Given the description of an element on the screen output the (x, y) to click on. 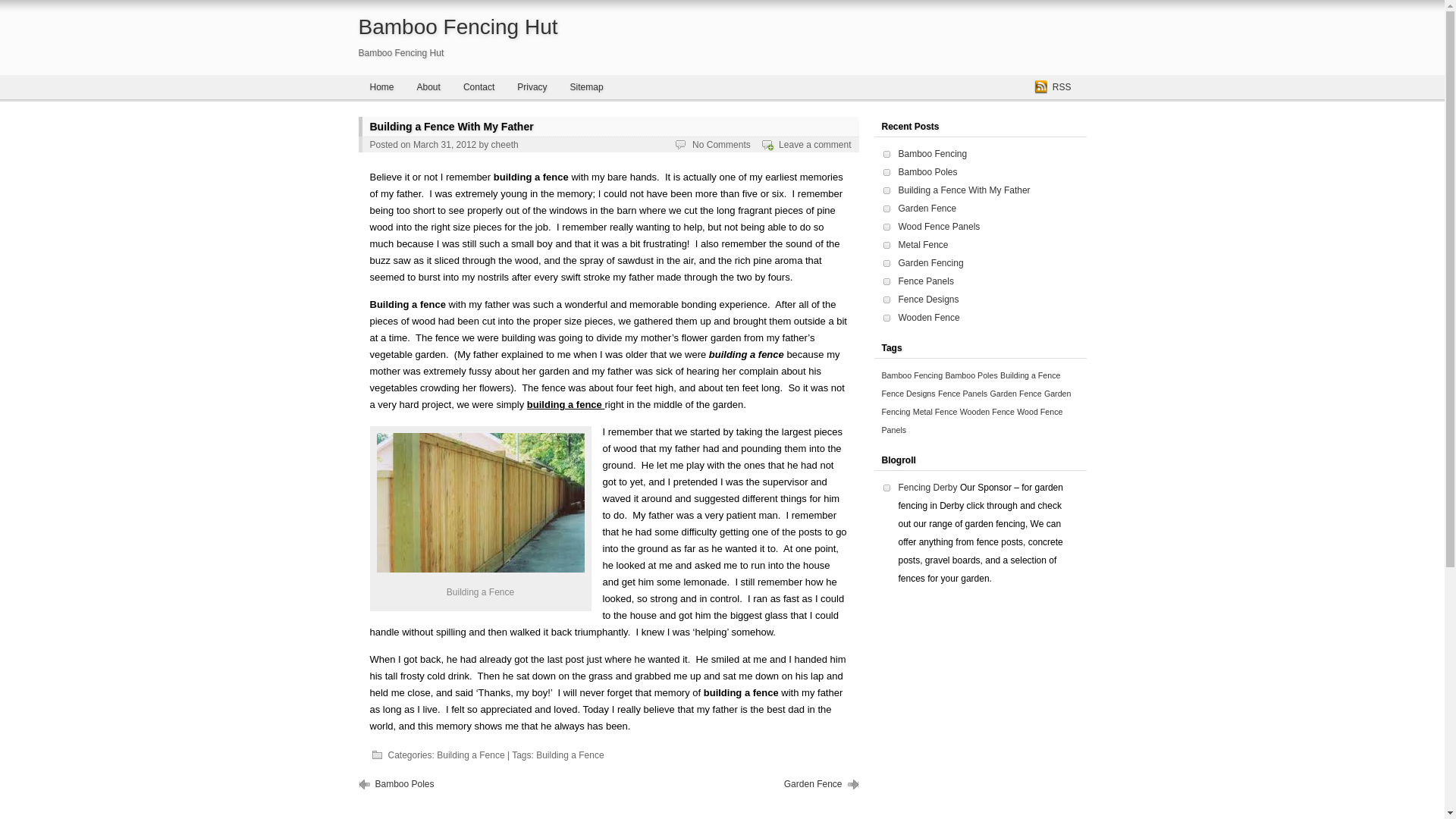
Home (381, 87)
Bamboo Poles (403, 783)
11:05 pm (444, 144)
Bamboo Fencing (932, 153)
Leave a comment (814, 144)
Building a Fence (479, 502)
Privacy (531, 87)
Bamboo Fencing Hut (457, 26)
No Comments (722, 144)
Building a Fence (569, 755)
Contact (478, 87)
Building a Fence (469, 755)
cheeth (505, 144)
Sitemap (586, 87)
Garden Fence (813, 783)
